Given the description of an element on the screen output the (x, y) to click on. 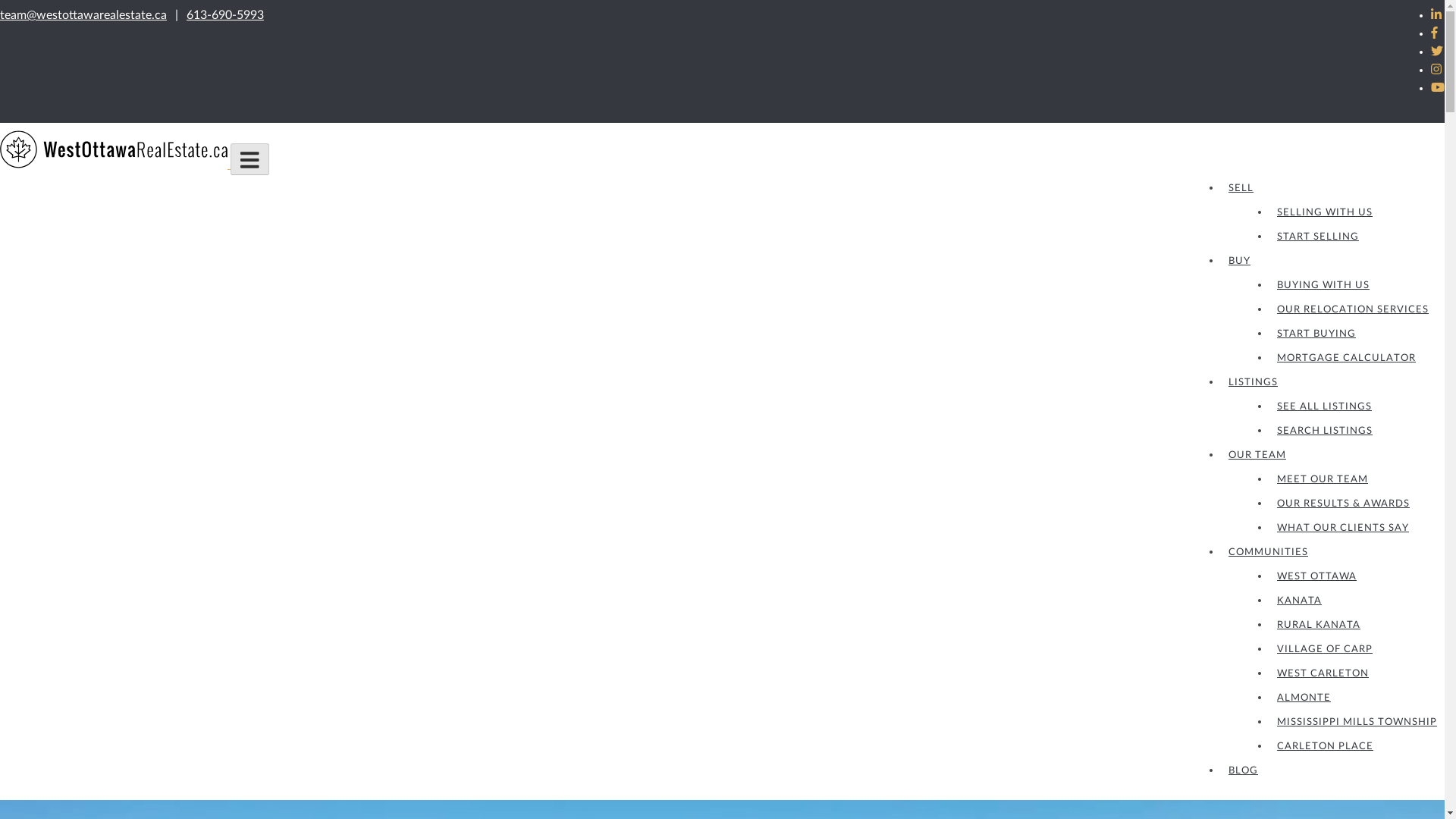
SELL Element type: text (1240, 188)
SEE ALL LISTINGS Element type: text (1324, 406)
START BUYING Element type: text (1316, 333)
SEARCH LISTINGS Element type: text (1324, 431)
MISSISSIPPI MILLS TOWNSHIP Element type: text (1356, 722)
MEET OUR TEAM Element type: text (1322, 479)
SELLING WITH US Element type: text (1324, 212)
OUR RESULTS & AWARDS Element type: text (1343, 503)
team@westottawarealestate.ca Element type: text (83, 15)
WHAT OUR CLIENTS SAY Element type: text (1342, 528)
OUR RELOCATION SERVICES Element type: text (1352, 309)
LISTINGS Element type: text (1252, 382)
COMMUNITIES Element type: text (1267, 552)
START SELLING Element type: text (1317, 236)
ALMONTE Element type: text (1303, 697)
CARLETON PLACE Element type: text (1324, 746)
RURAL KANATA Element type: text (1318, 625)
WEST OTTAWA Element type: text (1316, 576)
VILLAGE OF CARP Element type: text (1324, 649)
KANATA Element type: text (1299, 600)
BUY Element type: text (1239, 261)
MORTGAGE CALCULATOR Element type: text (1346, 358)
613-690-5993 Element type: text (224, 15)
BLOG Element type: text (1242, 770)
OUR TEAM Element type: text (1256, 455)
BUYING WITH US Element type: text (1323, 285)
WEST CARLETON Element type: text (1322, 673)
